Given the description of an element on the screen output the (x, y) to click on. 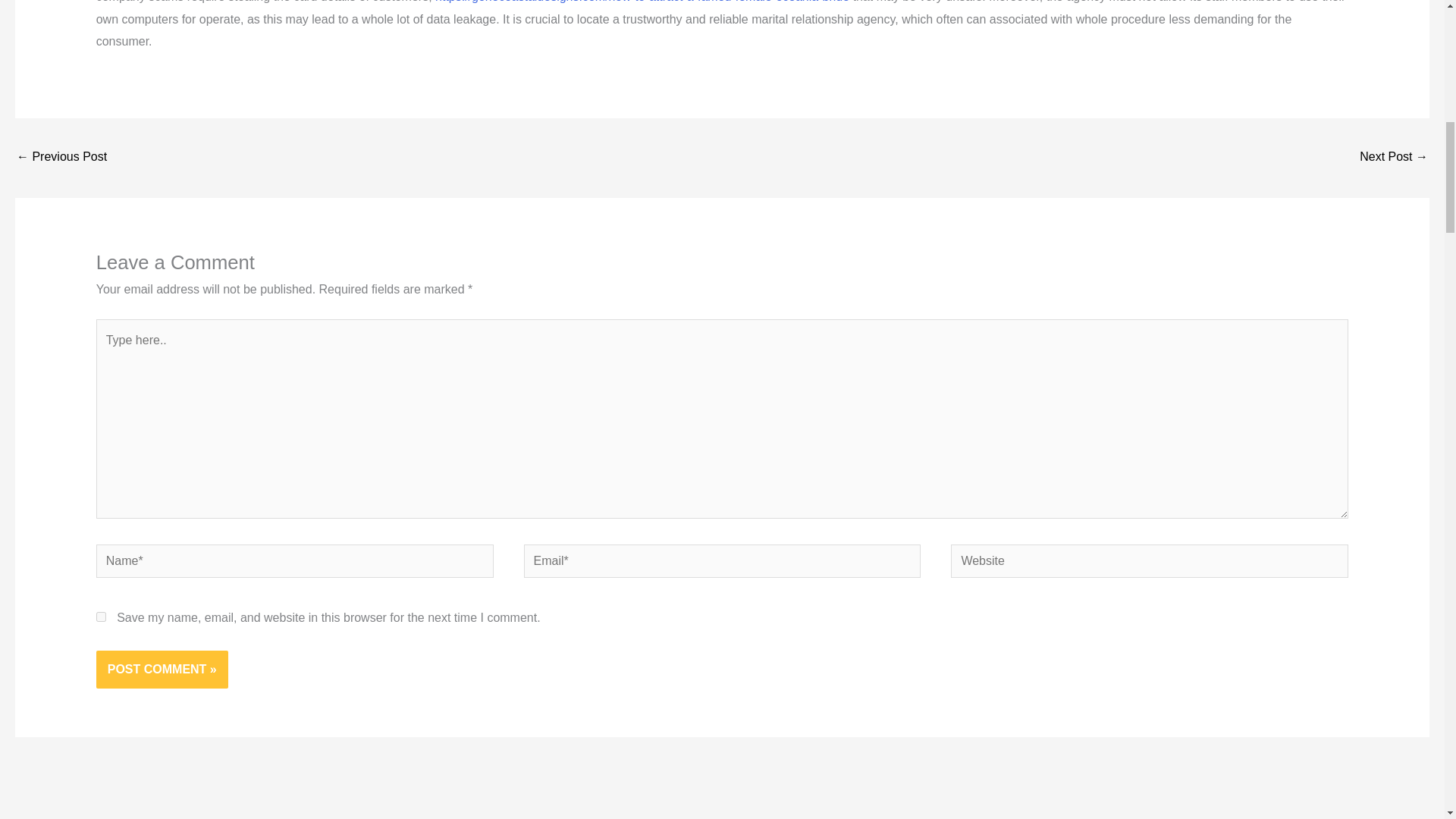
tren-105 (61, 157)
yes (101, 616)
Major Honeymoon Locations (1393, 157)
